Given the description of an element on the screen output the (x, y) to click on. 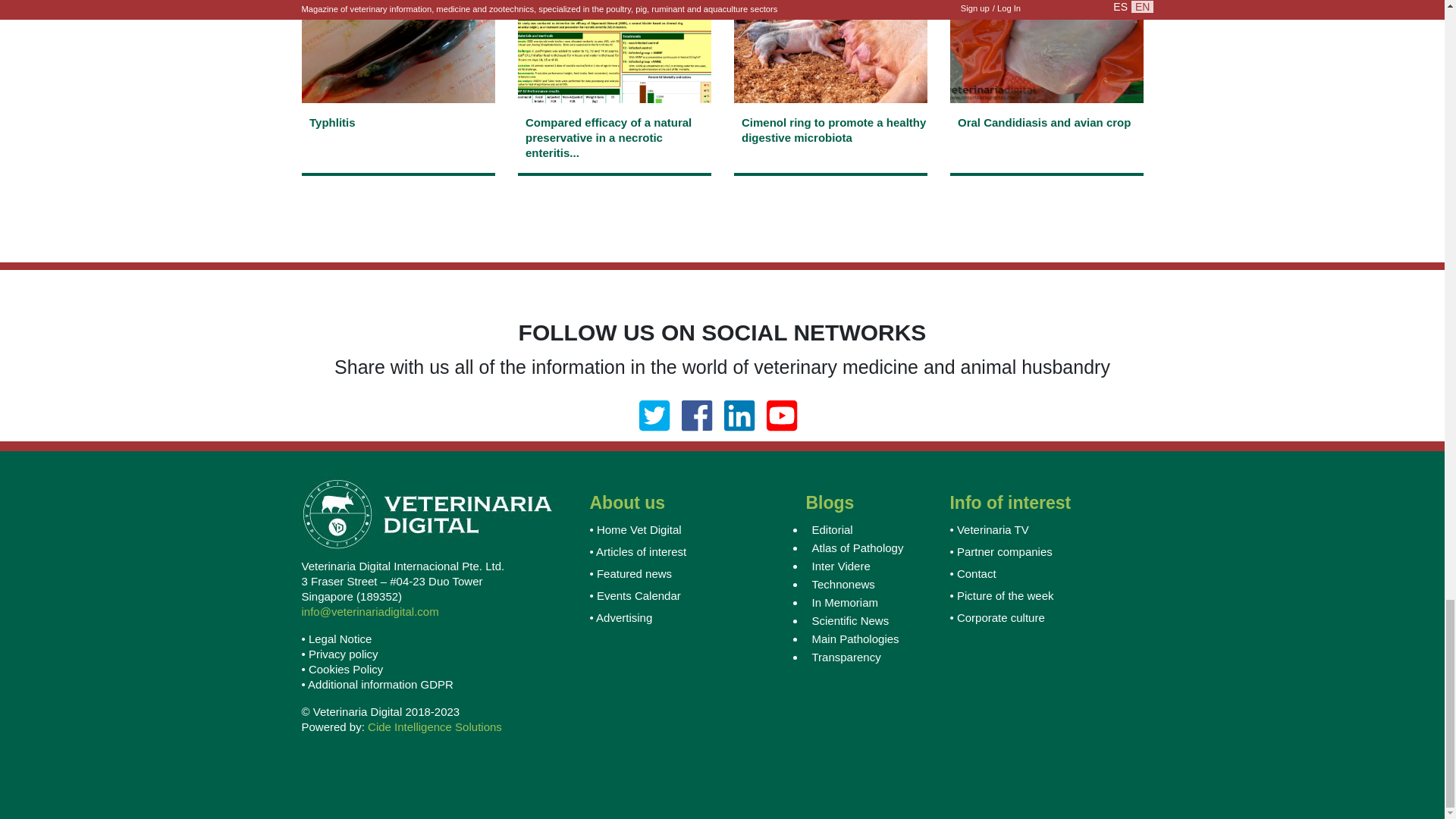
Veterinaria Digital (425, 504)
